Given the description of an element on the screen output the (x, y) to click on. 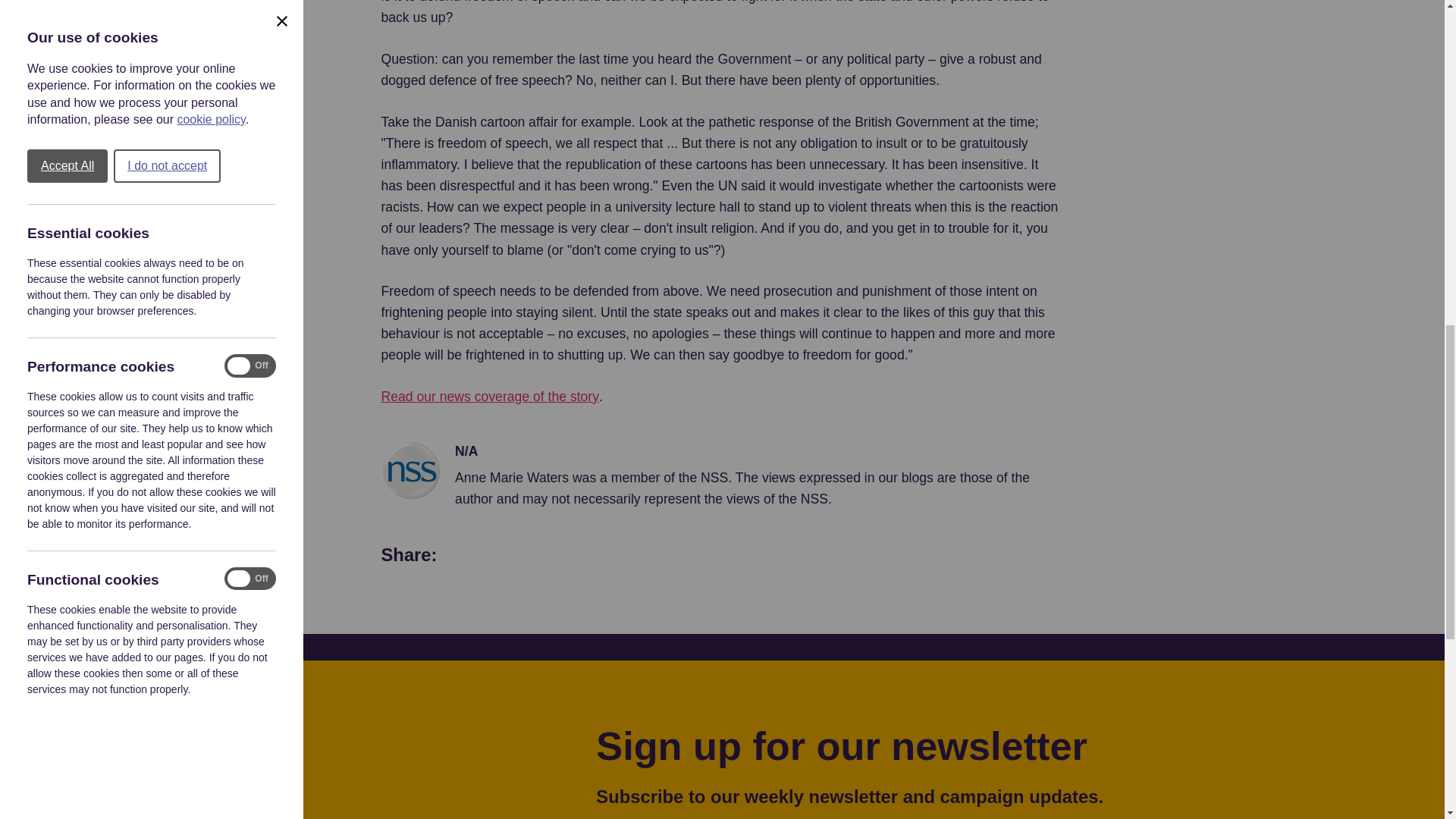
Share on Email (633, 555)
Read our news coverage of the story (489, 396)
Share on Facebook (525, 555)
Share on Twitter (579, 555)
Share on What's App (472, 555)
